Given the description of an element on the screen output the (x, y) to click on. 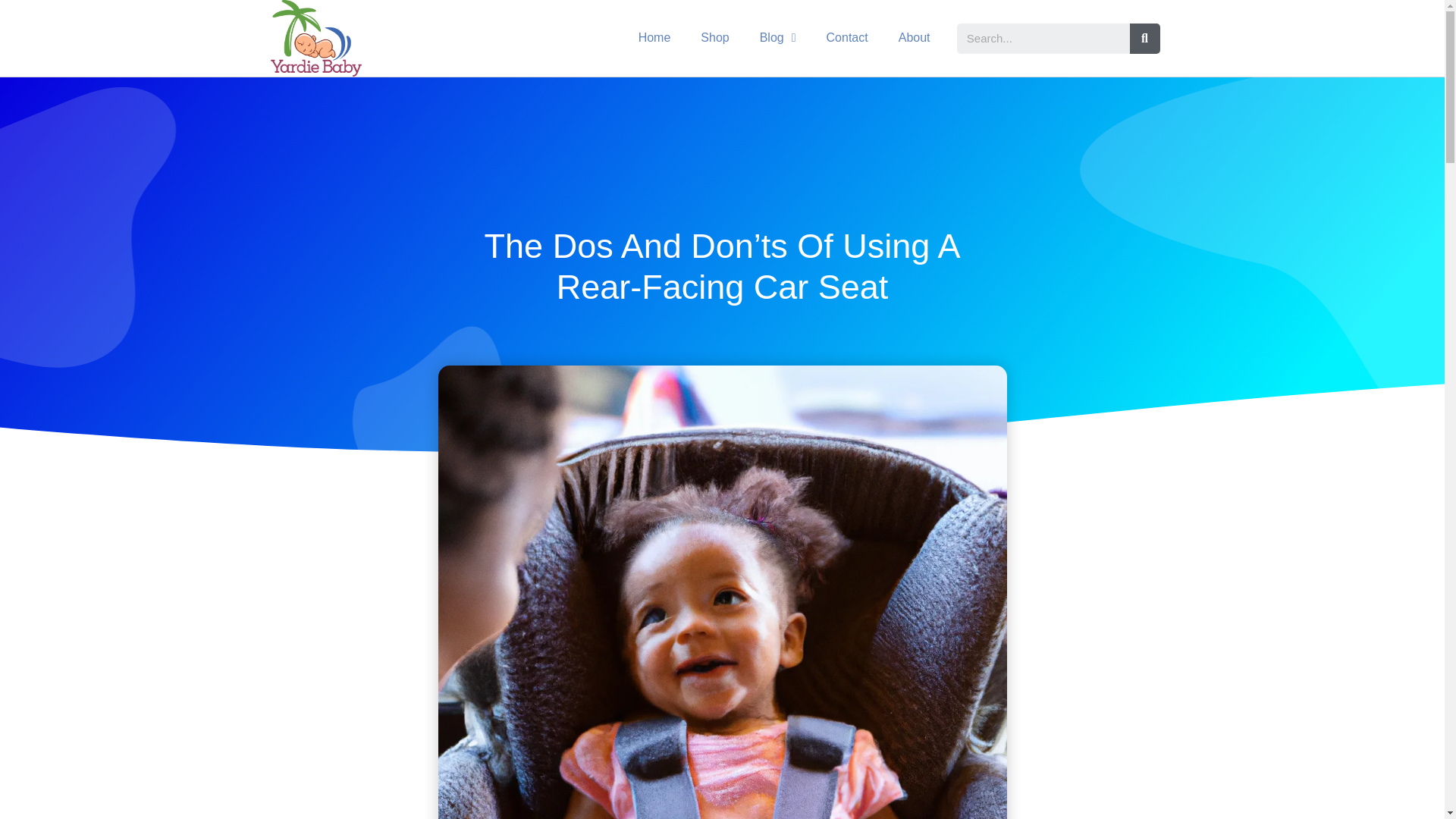
Contact (846, 38)
Search (1042, 38)
Search (1144, 38)
